Given the description of an element on the screen output the (x, y) to click on. 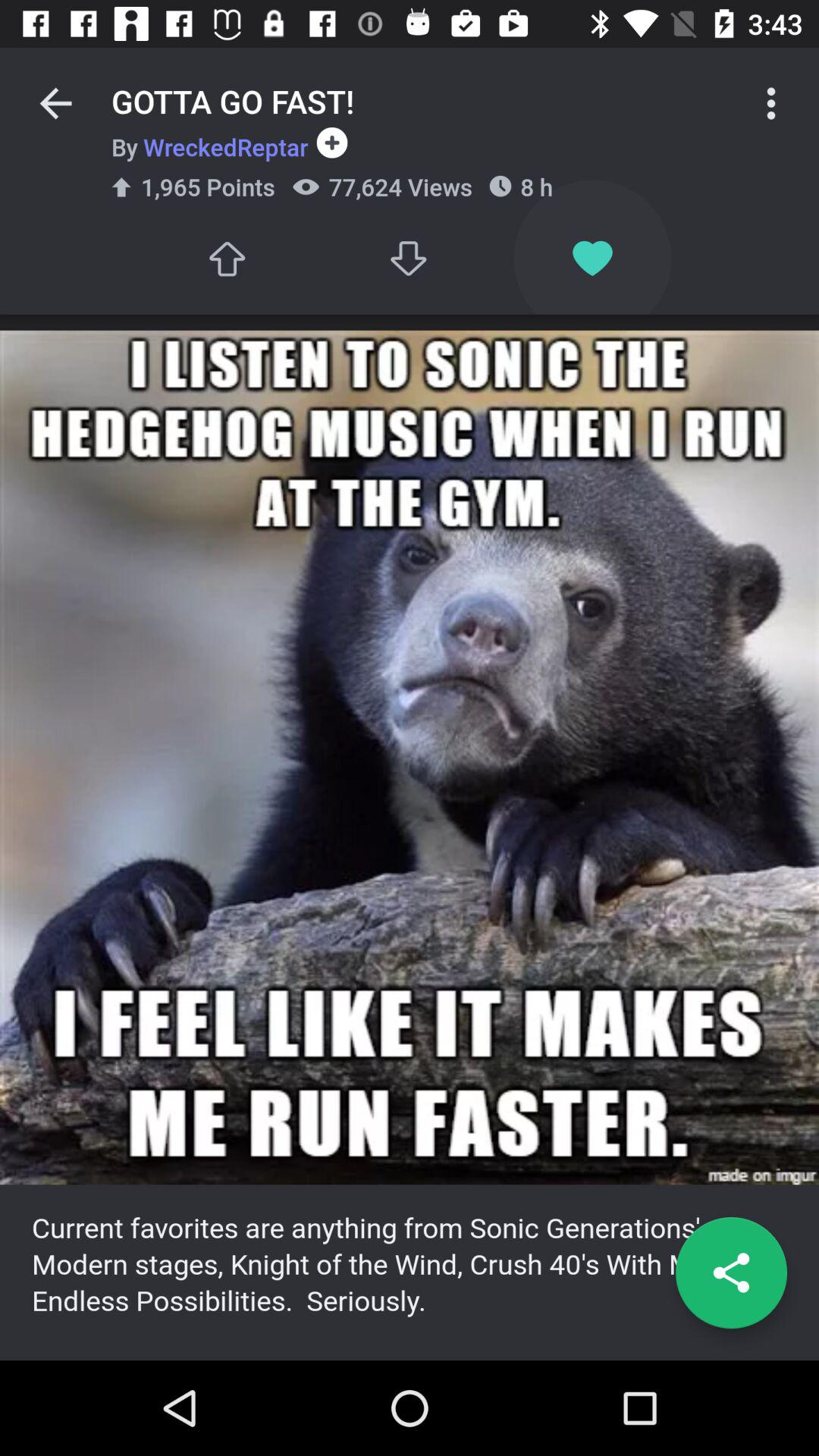
choose the icon below the 8 h icon (592, 258)
